Given the description of an element on the screen output the (x, y) to click on. 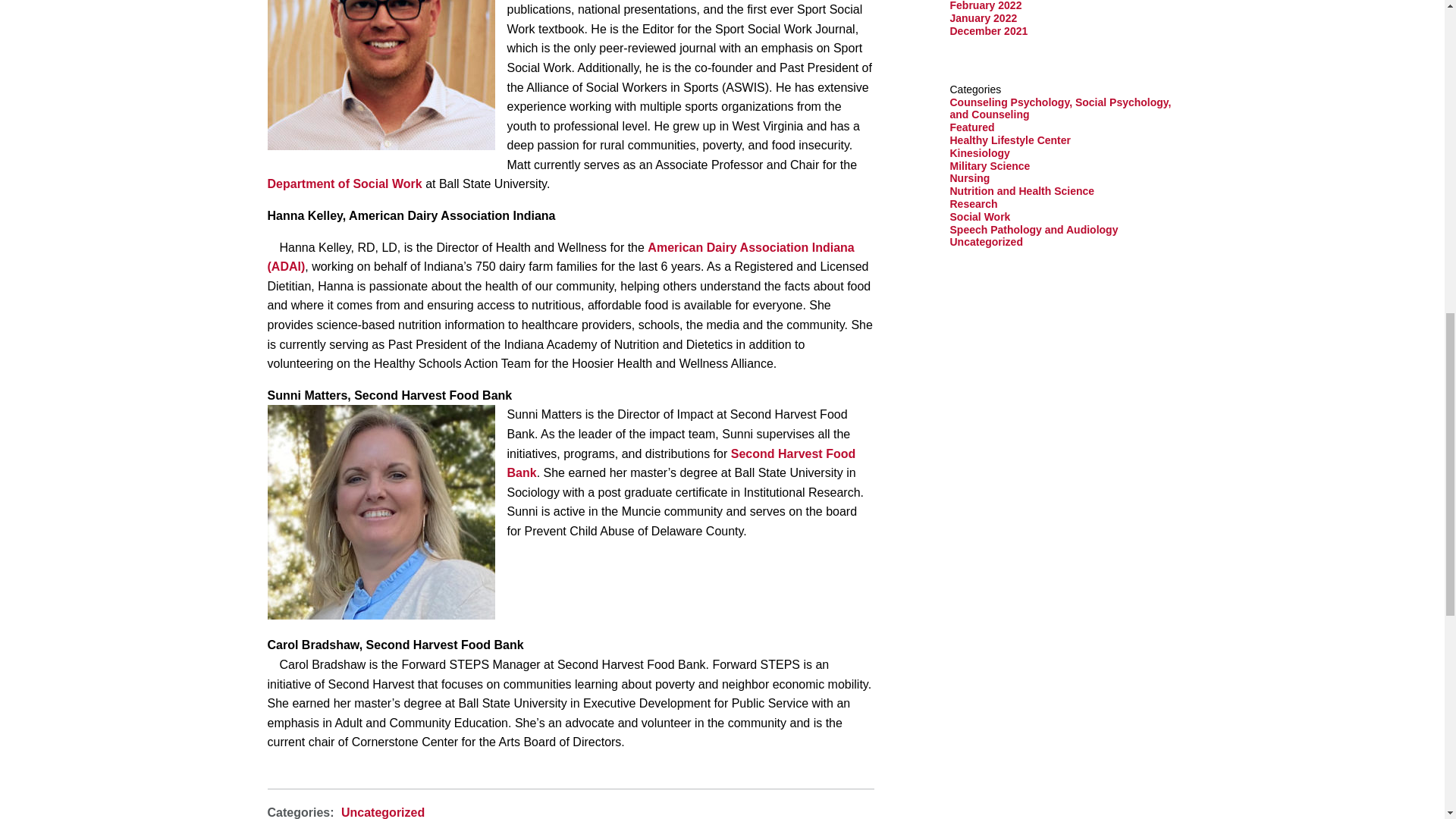
Department of Social Work (344, 183)
Second Harvest Food Bank (681, 463)
Uncategorized (382, 812)
